Given the description of an element on the screen output the (x, y) to click on. 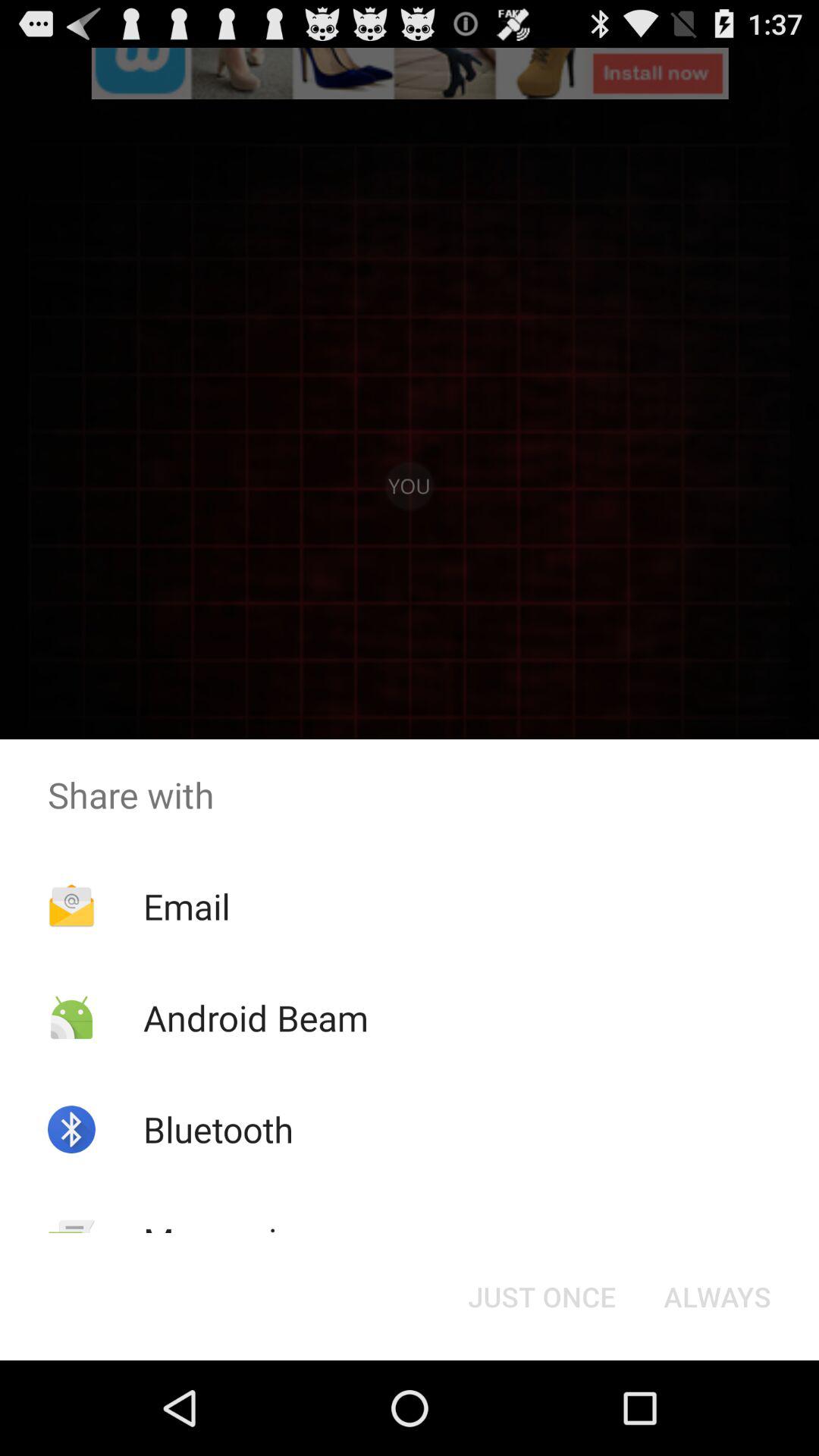
press item next to the always item (541, 1296)
